Given the description of an element on the screen output the (x, y) to click on. 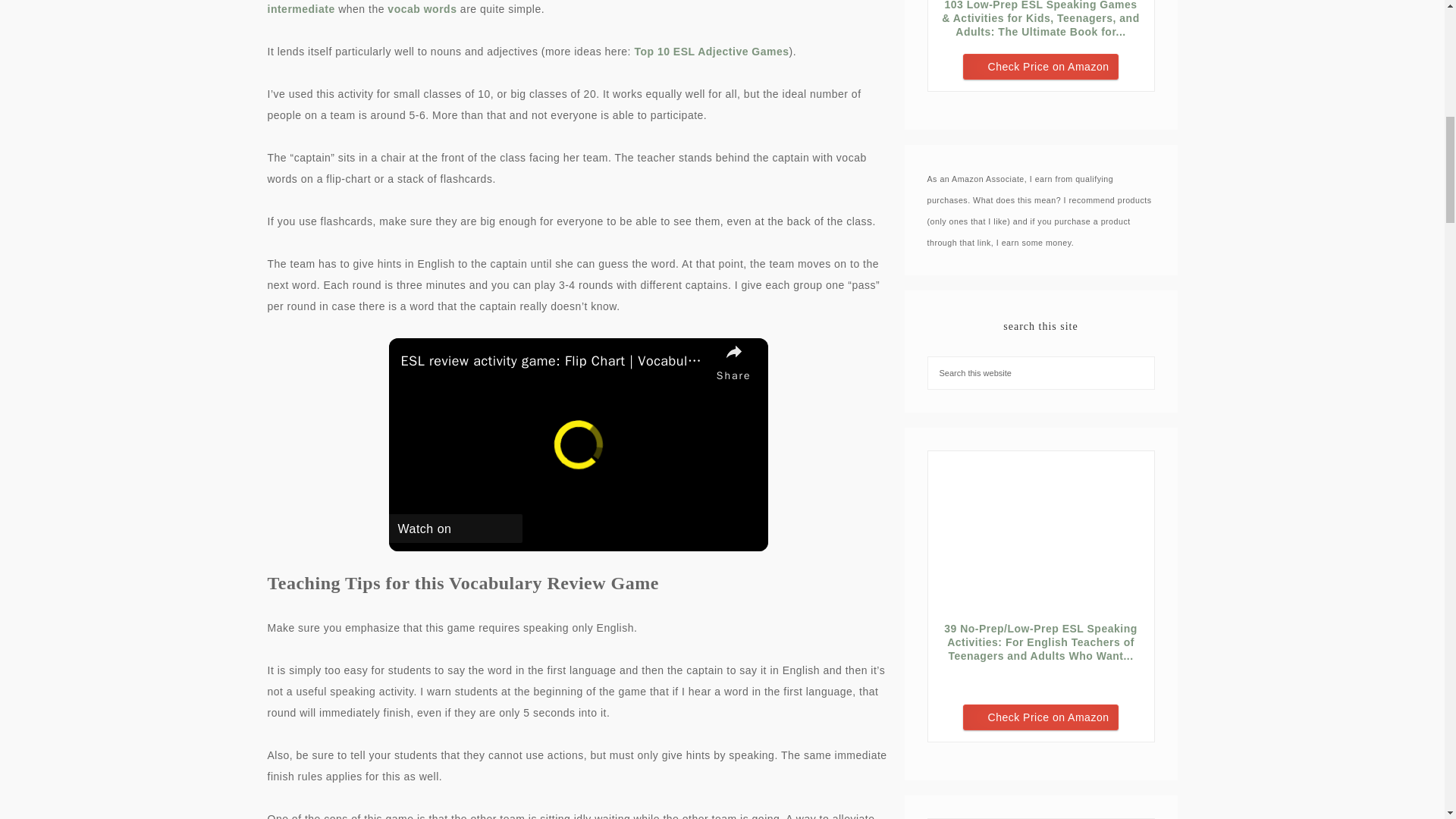
Check Price on Amazon (1040, 717)
vocab words (422, 9)
Check Price on Amazon (1040, 66)
Watch on (454, 528)
Reviews on Amazon (1040, 677)
intermediate (301, 9)
Top 10 ESL Adjective Games (711, 51)
